Given the description of an element on the screen output the (x, y) to click on. 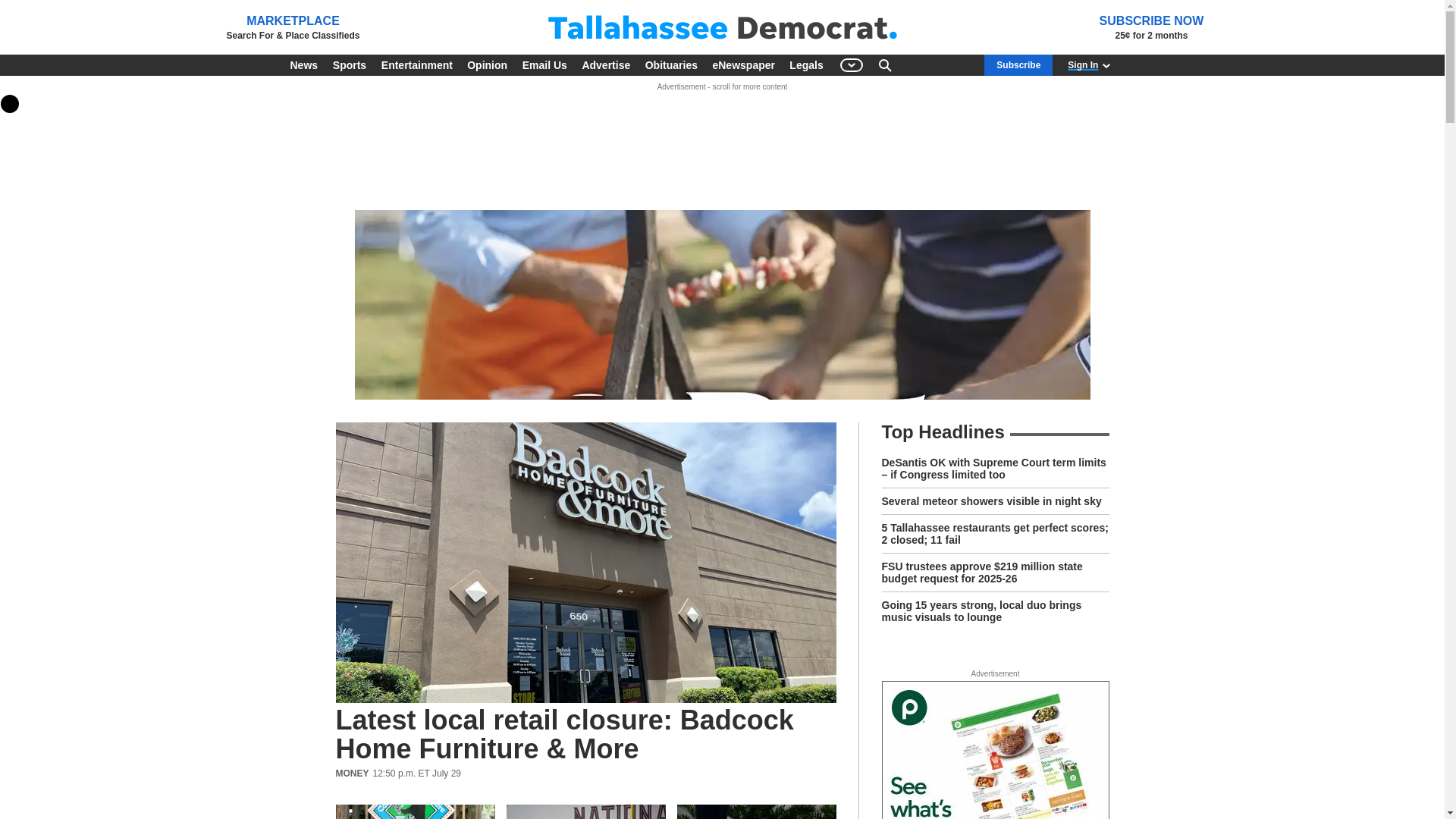
Sports (349, 65)
Entertainment (417, 65)
Legals (805, 65)
Opinion (486, 65)
Obituaries (670, 65)
Email Us (545, 65)
News (303, 65)
Advertise (605, 65)
eNewspaper (742, 65)
Search (885, 65)
